Given the description of an element on the screen output the (x, y) to click on. 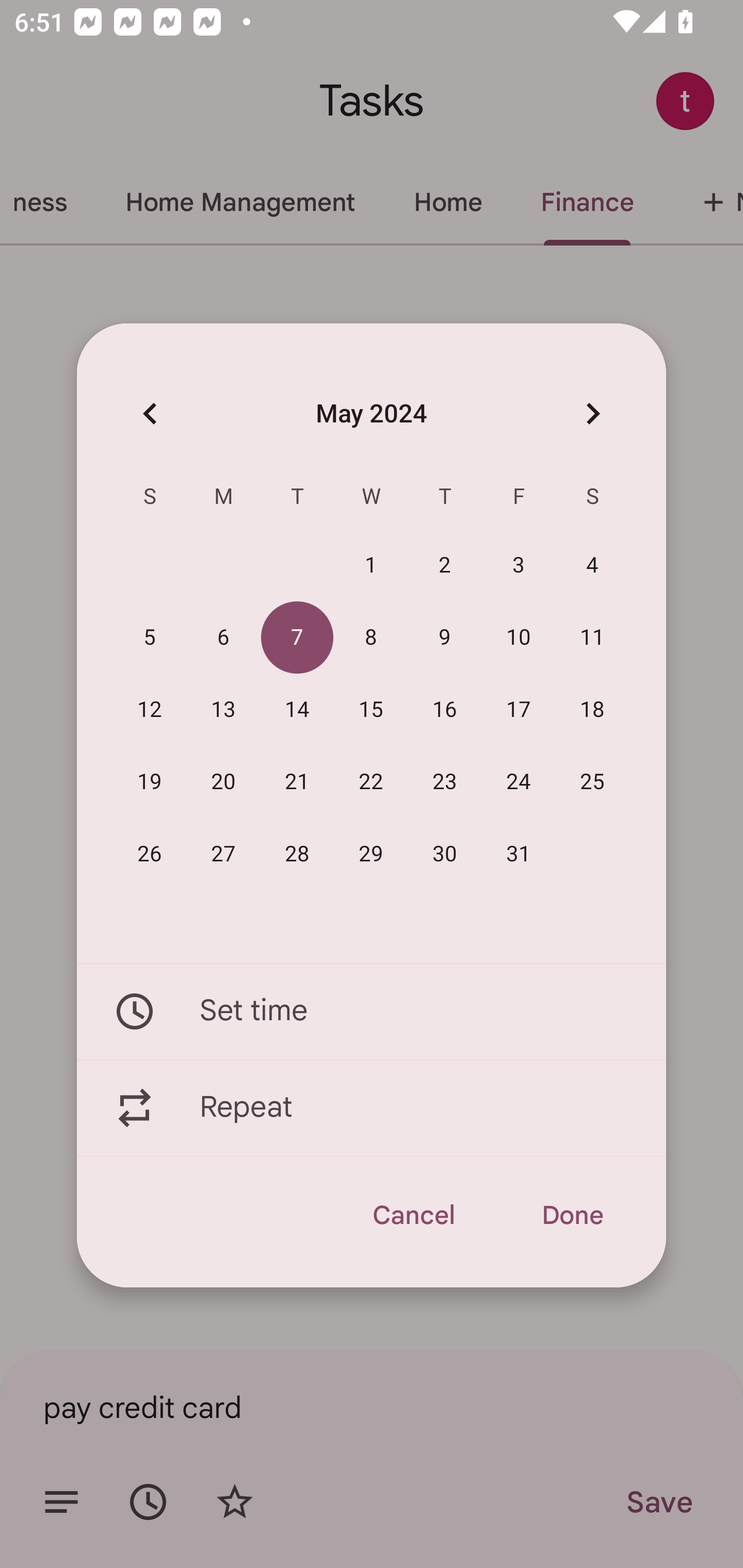
Previous month (149, 413)
Next month (592, 413)
1 01 May 2024 (370, 565)
2 02 May 2024 (444, 565)
3 03 May 2024 (518, 565)
4 04 May 2024 (592, 565)
5 05 May 2024 (149, 638)
6 06 May 2024 (223, 638)
7 07 May 2024 (297, 638)
8 08 May 2024 (370, 638)
9 09 May 2024 (444, 638)
10 10 May 2024 (518, 638)
11 11 May 2024 (592, 638)
12 12 May 2024 (149, 710)
13 13 May 2024 (223, 710)
14 14 May 2024 (297, 710)
15 15 May 2024 (370, 710)
16 16 May 2024 (444, 710)
17 17 May 2024 (518, 710)
18 18 May 2024 (592, 710)
19 19 May 2024 (149, 782)
20 20 May 2024 (223, 782)
21 21 May 2024 (297, 782)
22 22 May 2024 (370, 782)
23 23 May 2024 (444, 782)
24 24 May 2024 (518, 782)
25 25 May 2024 (592, 782)
26 26 May 2024 (149, 854)
27 27 May 2024 (223, 854)
28 28 May 2024 (297, 854)
29 29 May 2024 (370, 854)
30 30 May 2024 (444, 854)
31 31 May 2024 (518, 854)
Set time (371, 1011)
Repeat (371, 1108)
Cancel (412, 1215)
Done (571, 1215)
